Given the description of an element on the screen output the (x, y) to click on. 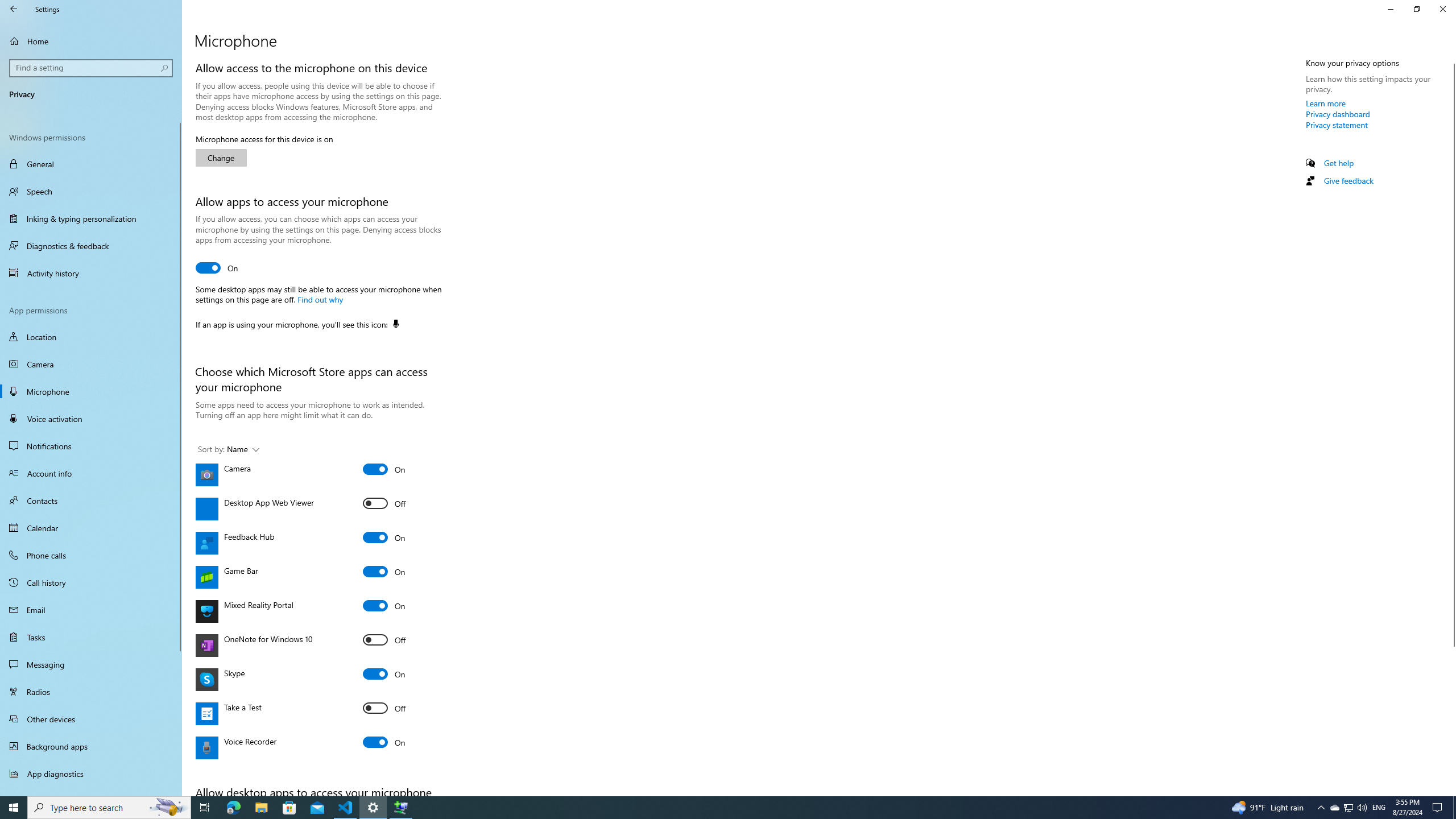
Privacy statement (1336, 124)
Location (91, 336)
Radios (91, 691)
Inking & typing personalization (91, 217)
App diagnostics (91, 773)
General (91, 163)
Feedback Hub (384, 537)
Give feedback (1348, 180)
Notifications (91, 445)
Allow apps to access your microphone (216, 267)
Change (221, 157)
Voice Recorder (384, 742)
